Given the description of an element on the screen output the (x, y) to click on. 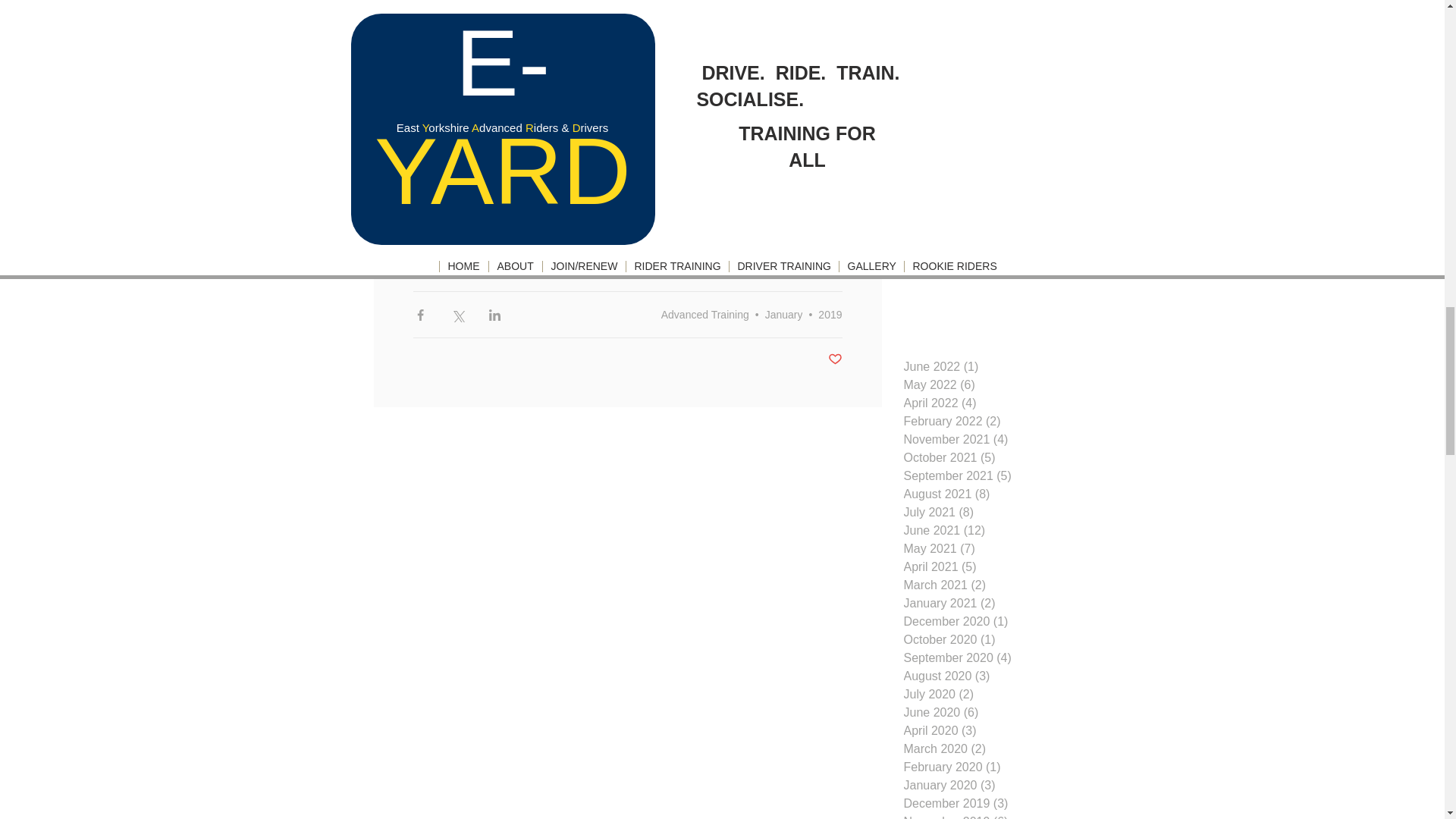
2019 (425, 261)
January (784, 314)
Post not marked as liked (835, 359)
Advanced Training (705, 314)
2019 (829, 314)
January (470, 261)
